Given the description of an element on the screen output the (x, y) to click on. 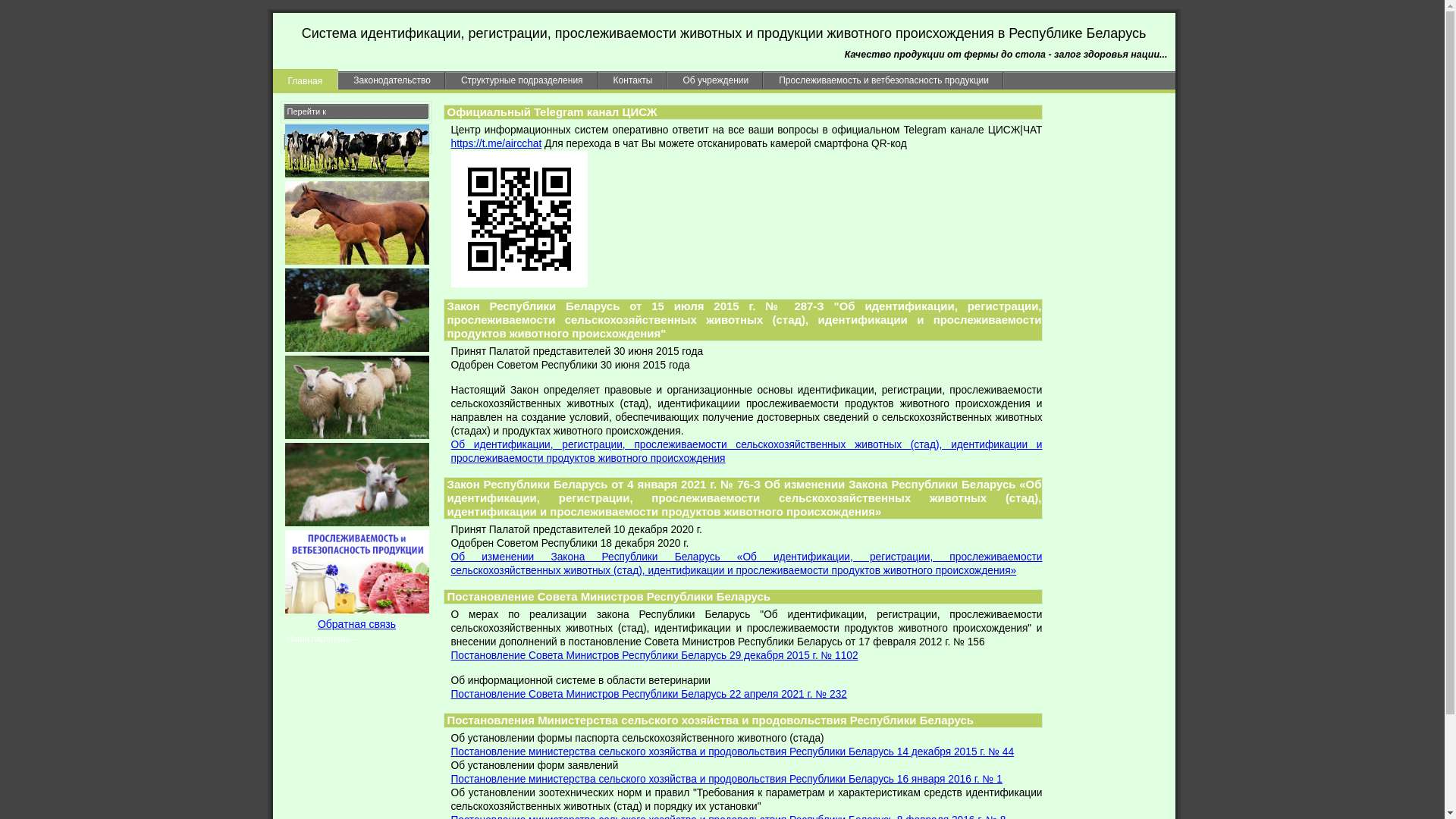
https://t.me/aircchat Element type: text (495, 143)
